Given the description of an element on the screen output the (x, y) to click on. 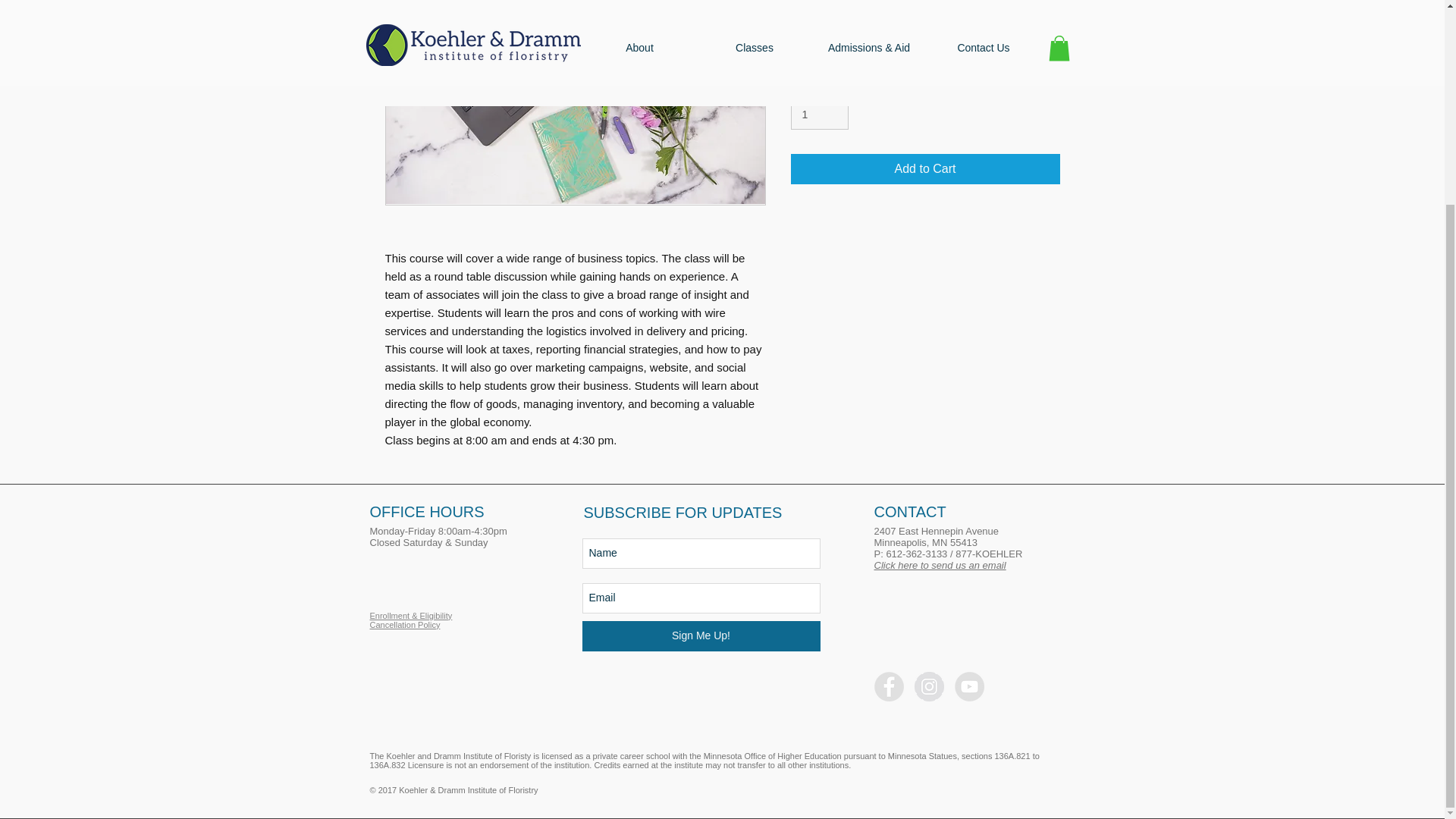
1 (818, 114)
Add to Cart (924, 168)
Click here to send us an email (939, 564)
Cancellation Policy (405, 624)
Select (924, 47)
Sign Me Up! (701, 635)
